Given the description of an element on the screen output the (x, y) to click on. 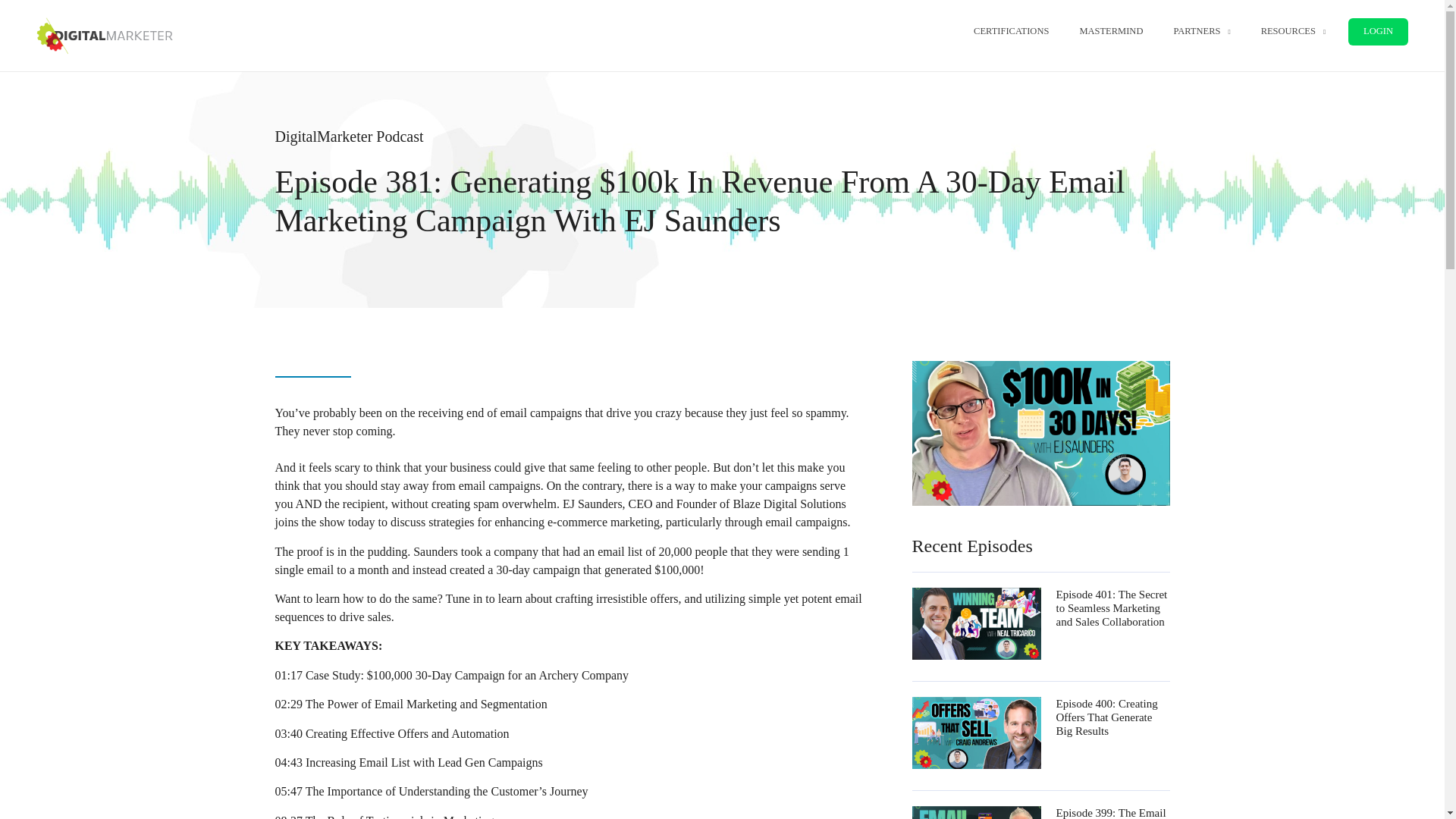
RESOURCES (1293, 31)
CERTIFICATIONS (1011, 31)
LOGIN (1377, 31)
PARTNERS (1200, 31)
MASTERMIND (1110, 31)
